Given the description of an element on the screen output the (x, y) to click on. 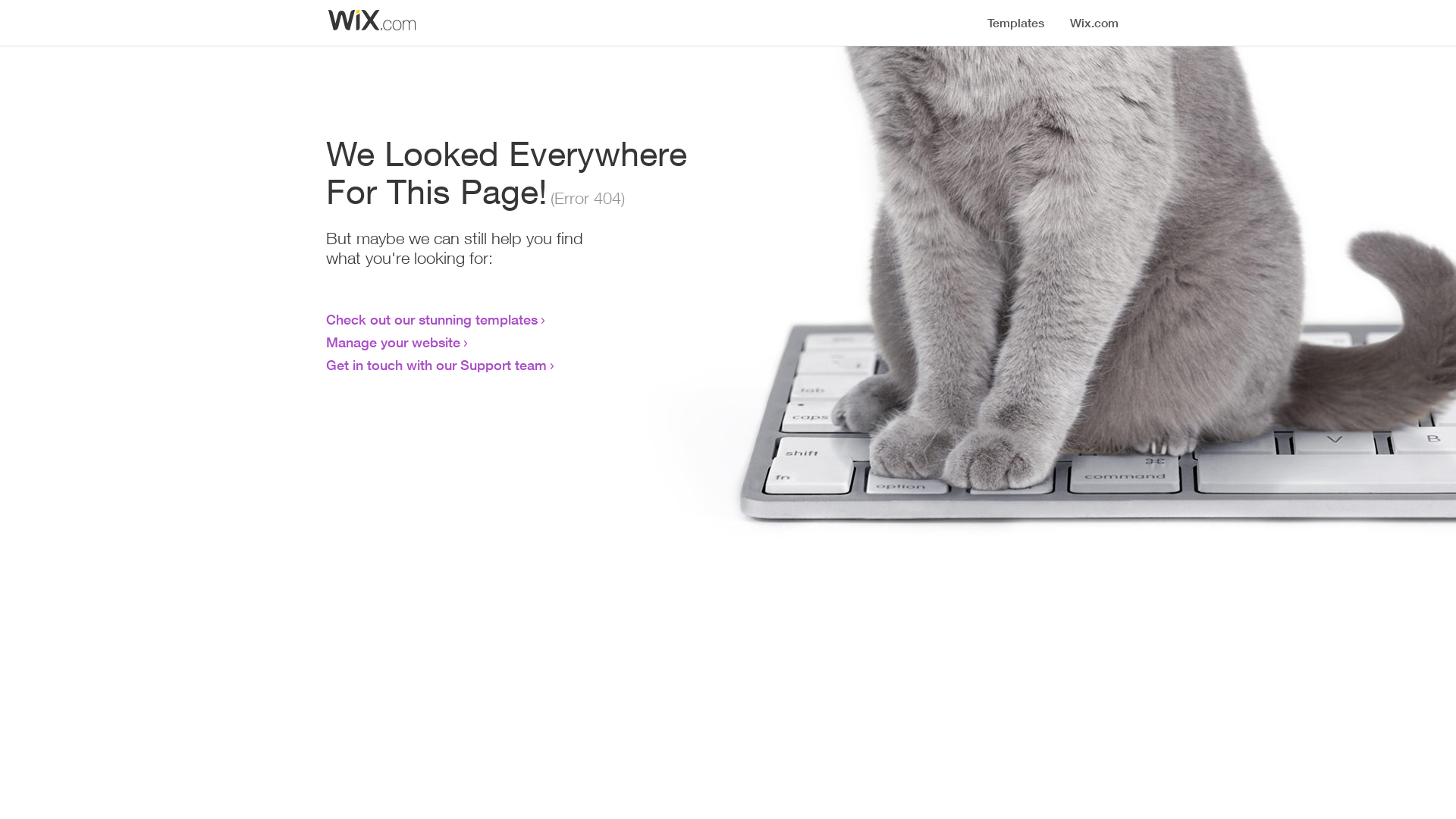
Manage your website Element type: text (393, 341)
Get in touch with our Support team Element type: text (436, 364)
Check out our stunning templates Element type: text (431, 318)
